Given the description of an element on the screen output the (x, y) to click on. 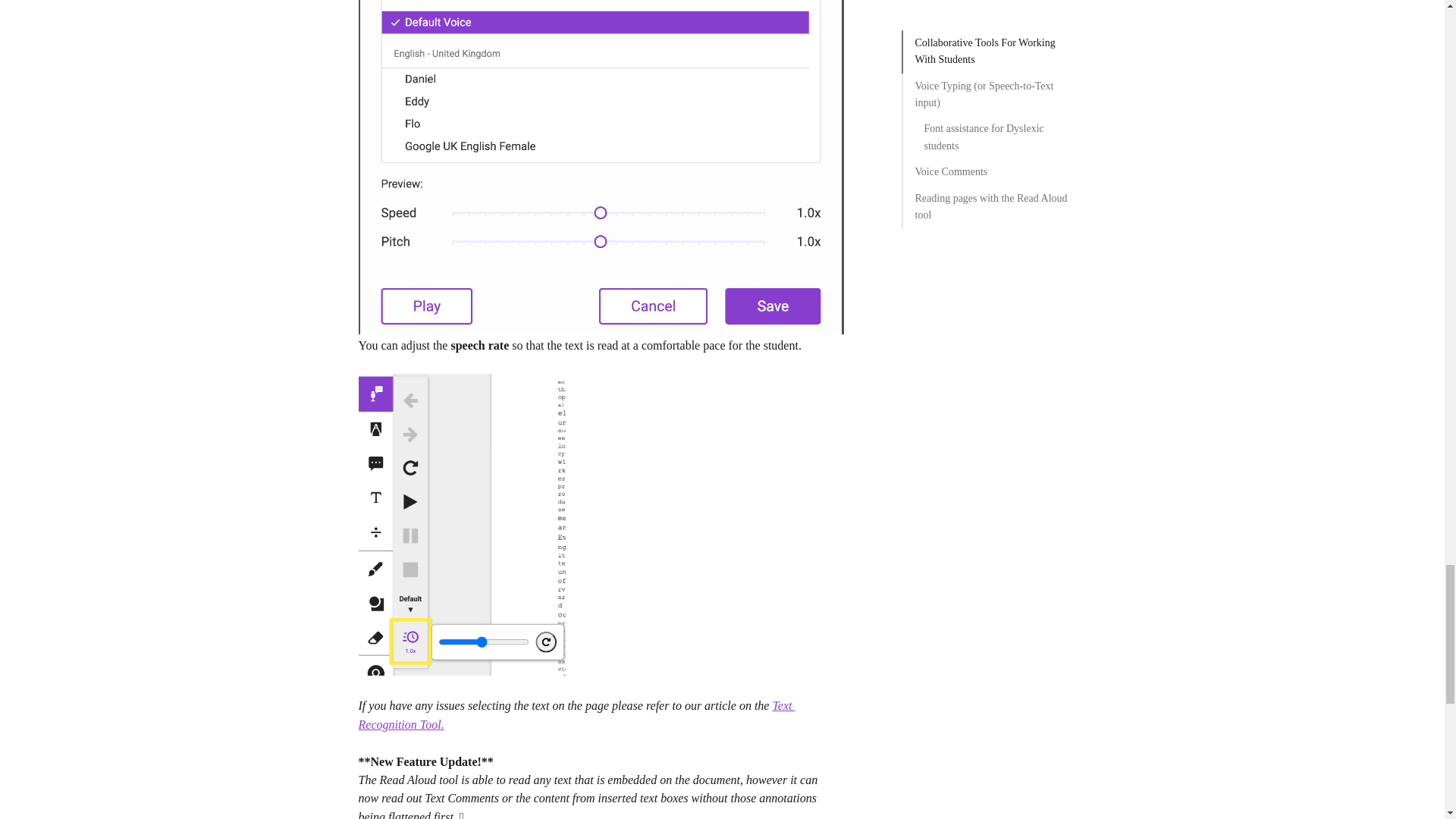
Text Recognition Tool. (576, 714)
